Given the description of an element on the screen output the (x, y) to click on. 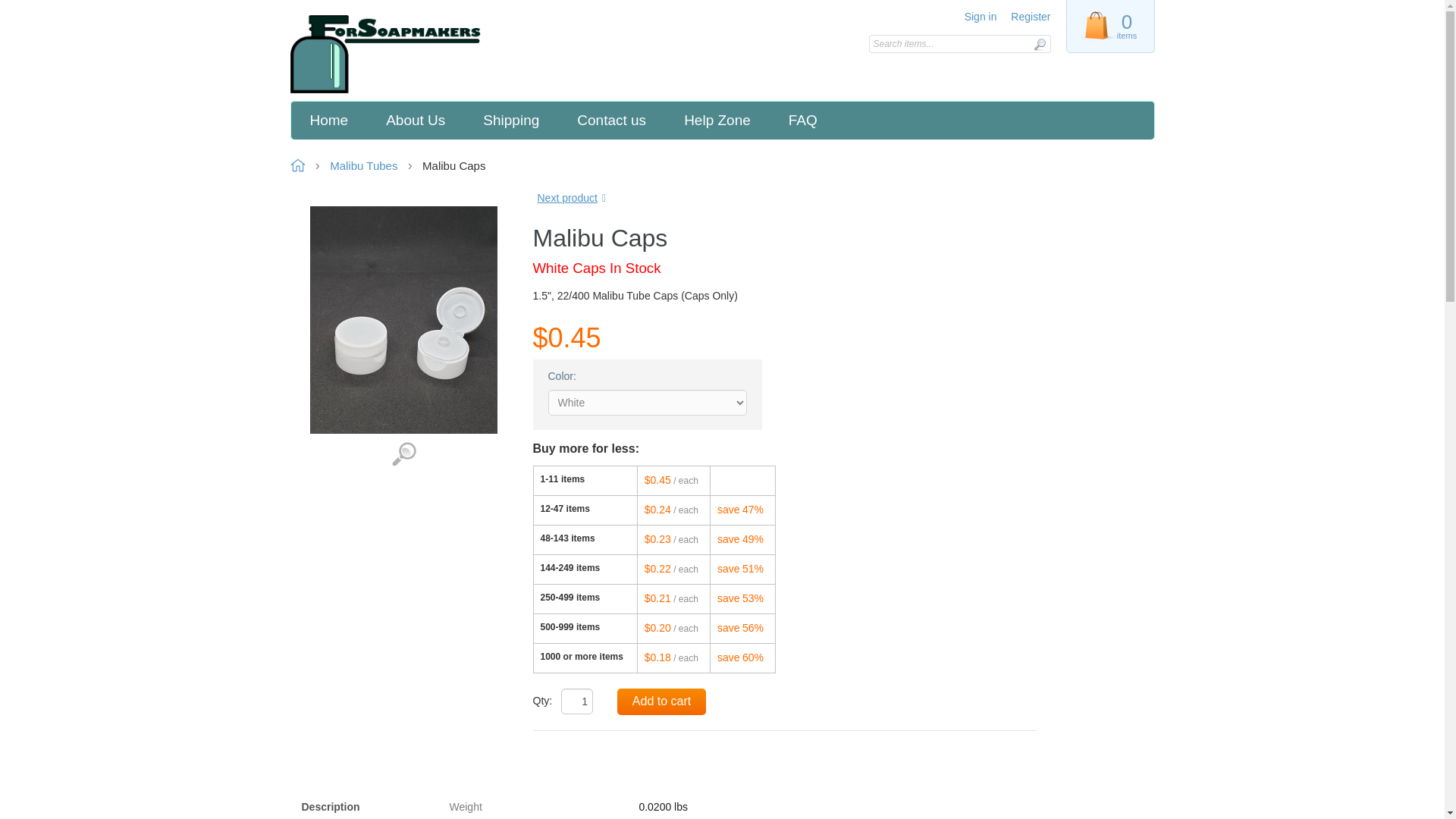
Your cart (1109, 26)
Home (397, 54)
Shipping (510, 120)
Home (329, 120)
FAQ (802, 120)
Help Zone (717, 120)
Sign in (980, 16)
1 (576, 701)
About Us (415, 120)
Malibu Tubes (363, 164)
